Given the description of an element on the screen output the (x, y) to click on. 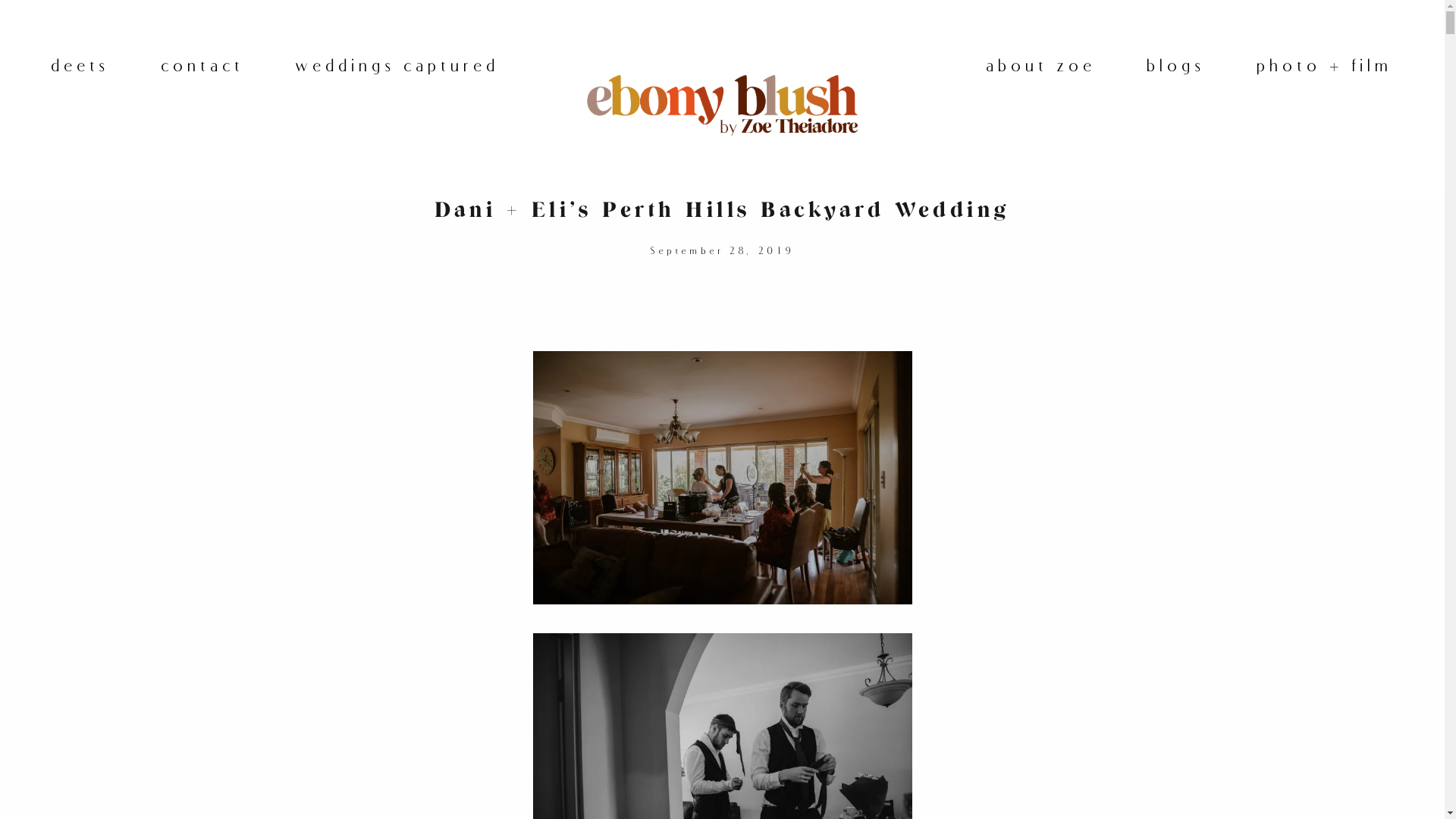
blogs Element type: text (1176, 64)
photo + film Element type: text (1325, 64)
weddings captured Element type: text (396, 64)
about zoe Element type: text (1041, 64)
deets Element type: text (80, 64)
contact Element type: text (202, 64)
